Given the description of an element on the screen output the (x, y) to click on. 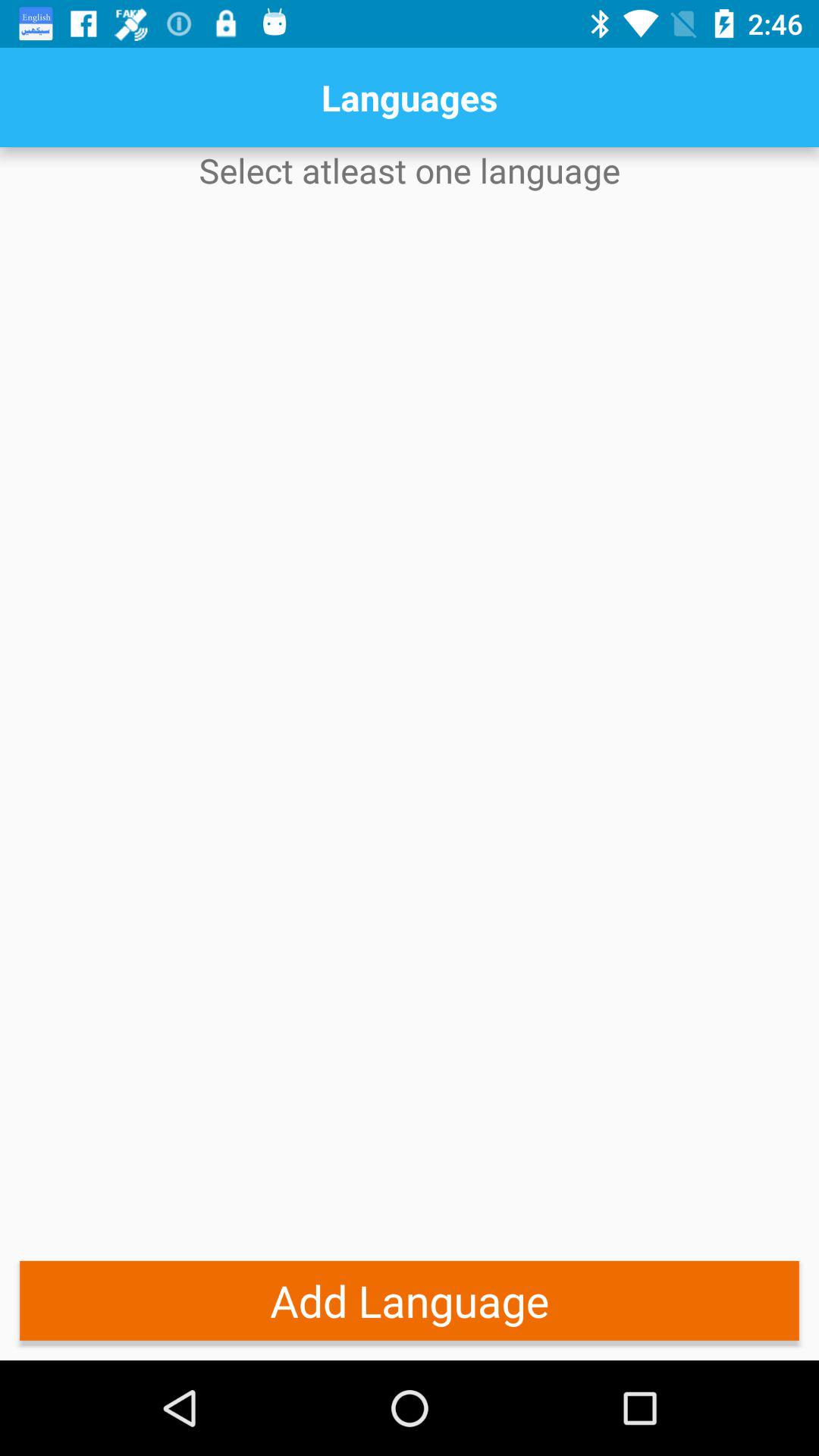
launch add language item (409, 1300)
